Given the description of an element on the screen output the (x, y) to click on. 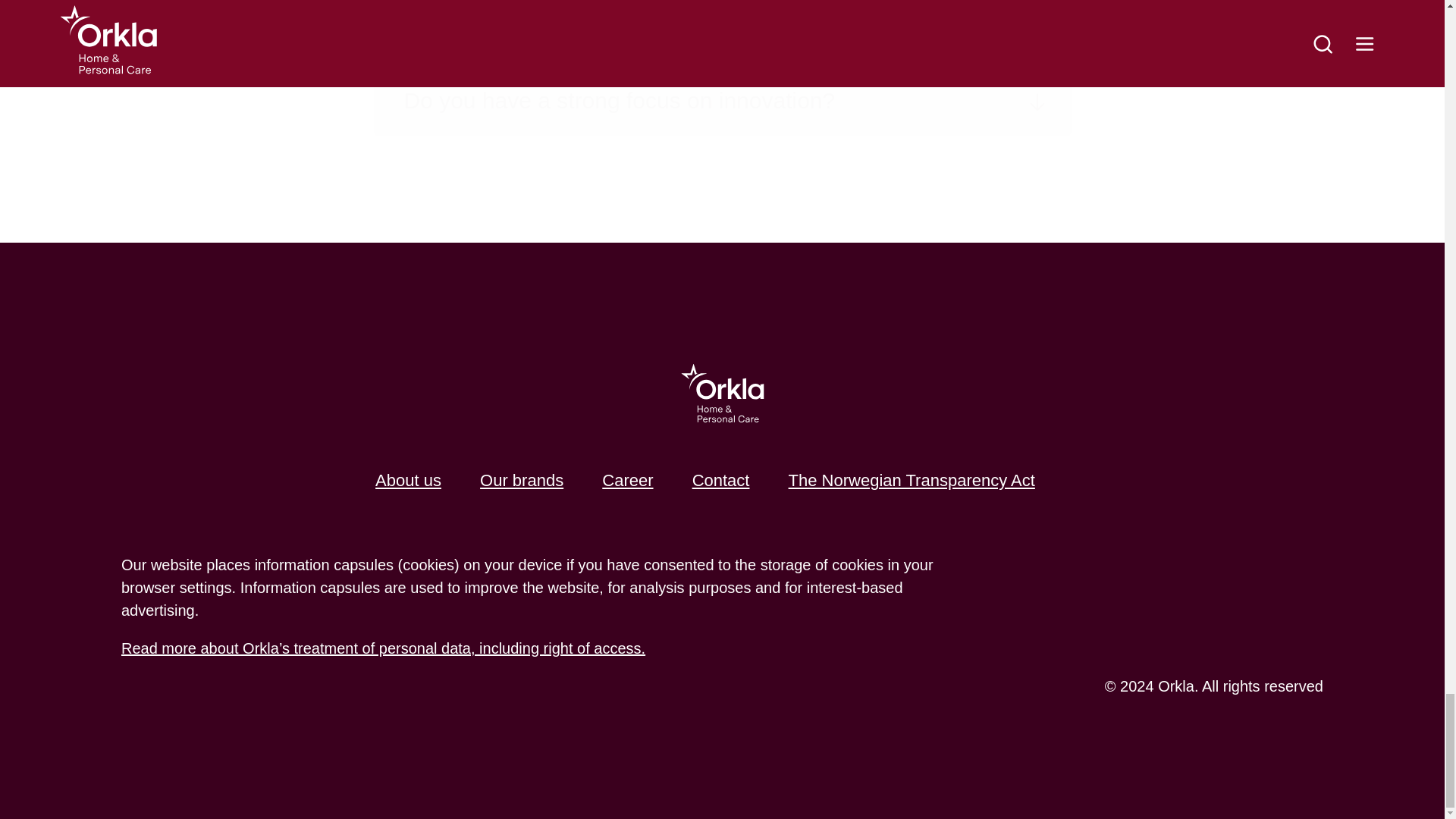
Legal (382, 647)
Career (627, 479)
Our brands (521, 479)
Contact (721, 479)
The Norwegian Transparency Act (912, 479)
About us (408, 479)
